Given the description of an element on the screen output the (x, y) to click on. 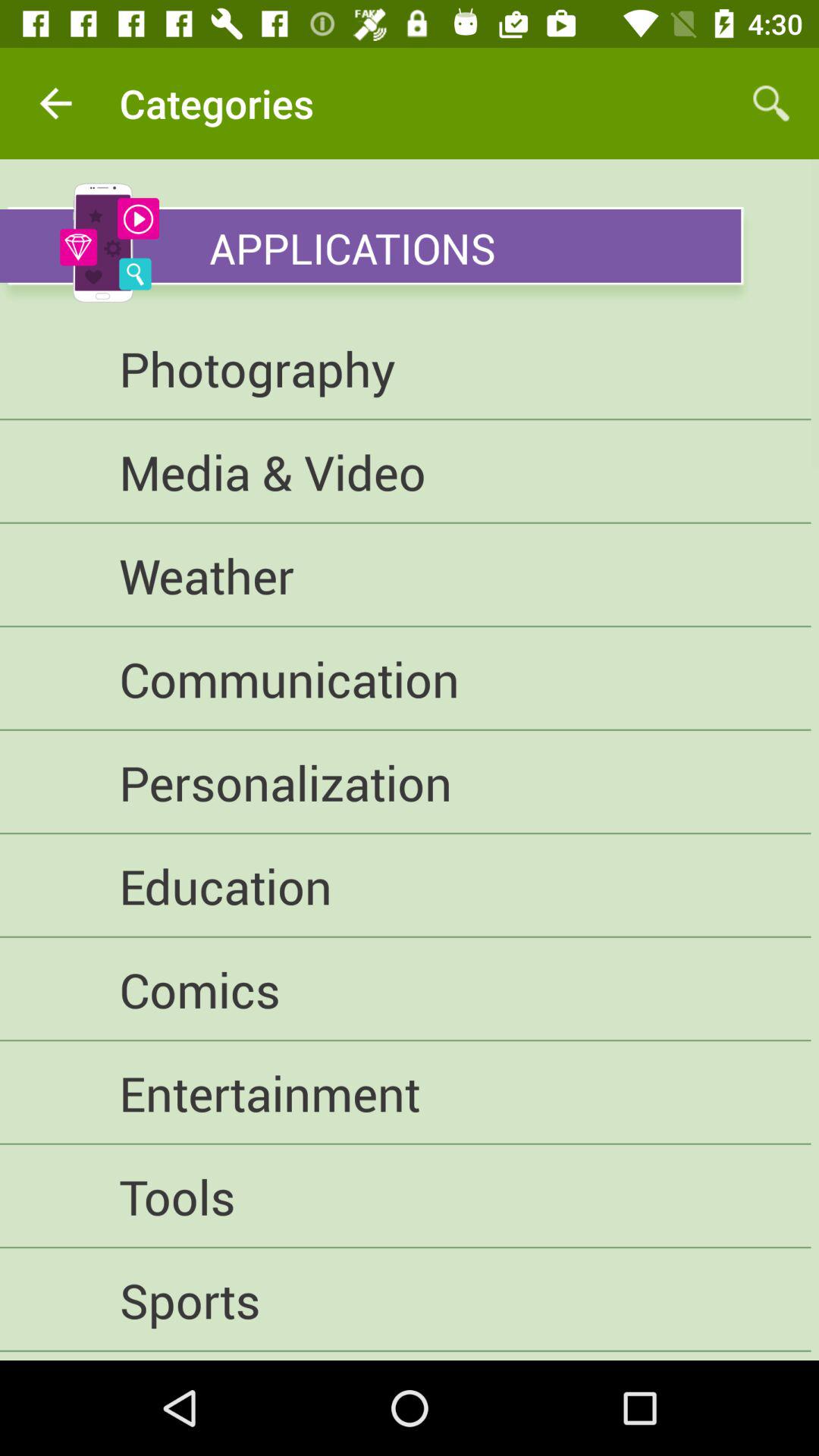
tap the item to the left of categories icon (55, 103)
